Given the description of an element on the screen output the (x, y) to click on. 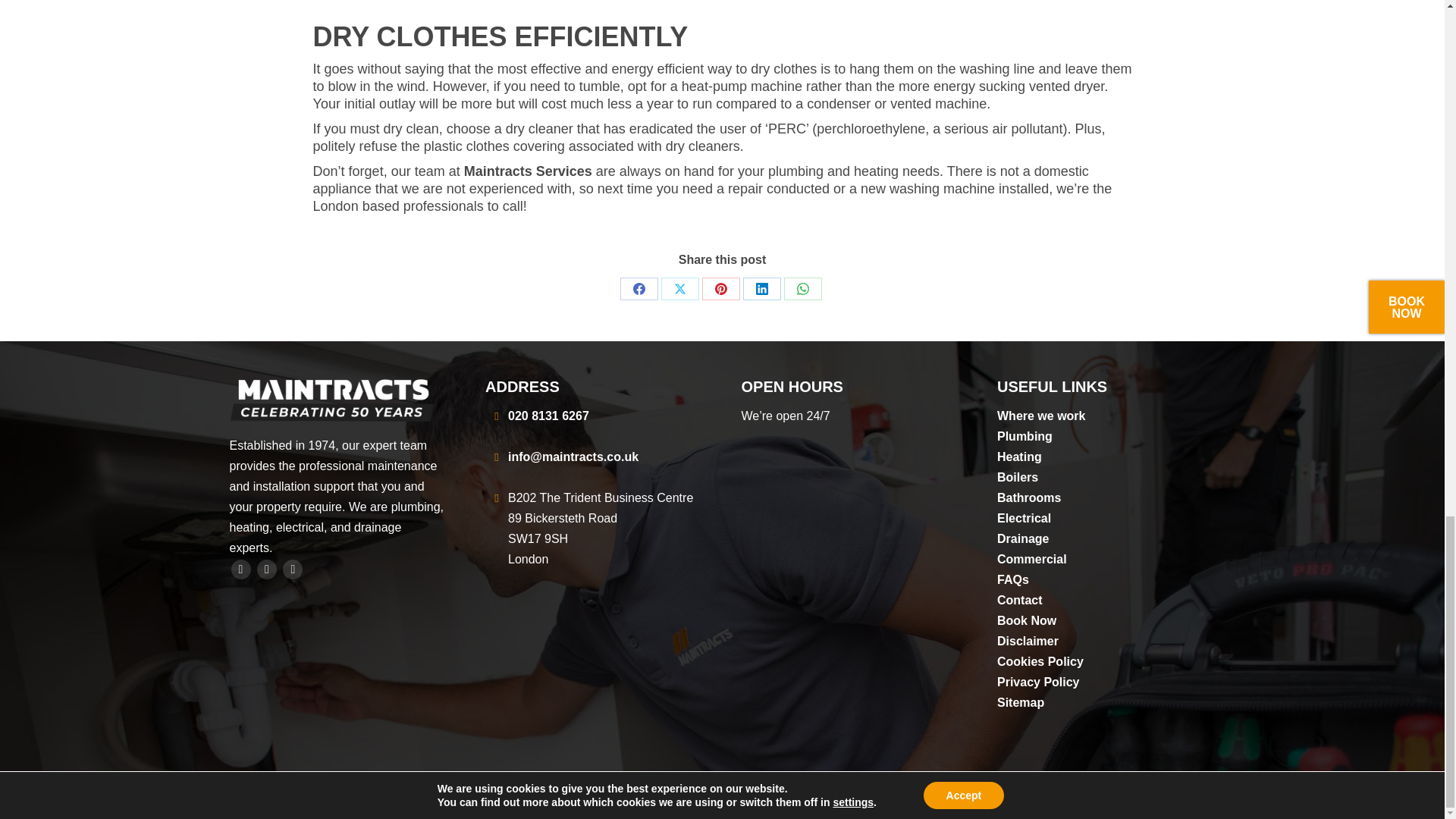
Twitter page opens in new window (266, 569)
WhatsApp (803, 288)
Send us a message! (573, 456)
Instagram page opens in new window (292, 569)
Facebook page opens in new window (240, 569)
LinkedIn (761, 288)
Give us a call! (548, 415)
Facebook (639, 288)
Pinterest (720, 288)
X (679, 288)
